Given the description of an element on the screen output the (x, y) to click on. 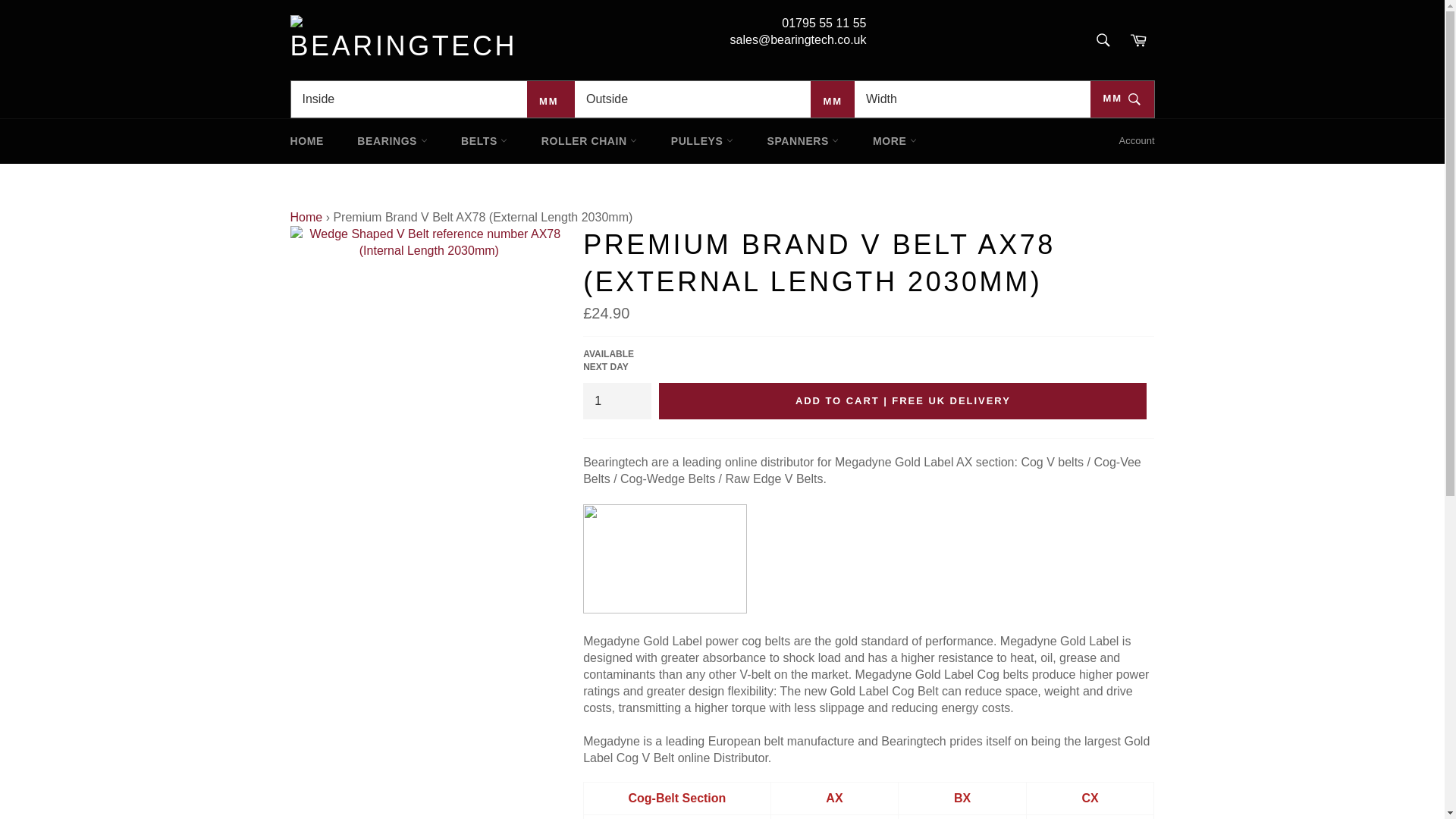
Width (972, 98)
Inside (409, 98)
1 (616, 401)
Home (305, 216)
Outside (692, 98)
